Given the description of an element on the screen output the (x, y) to click on. 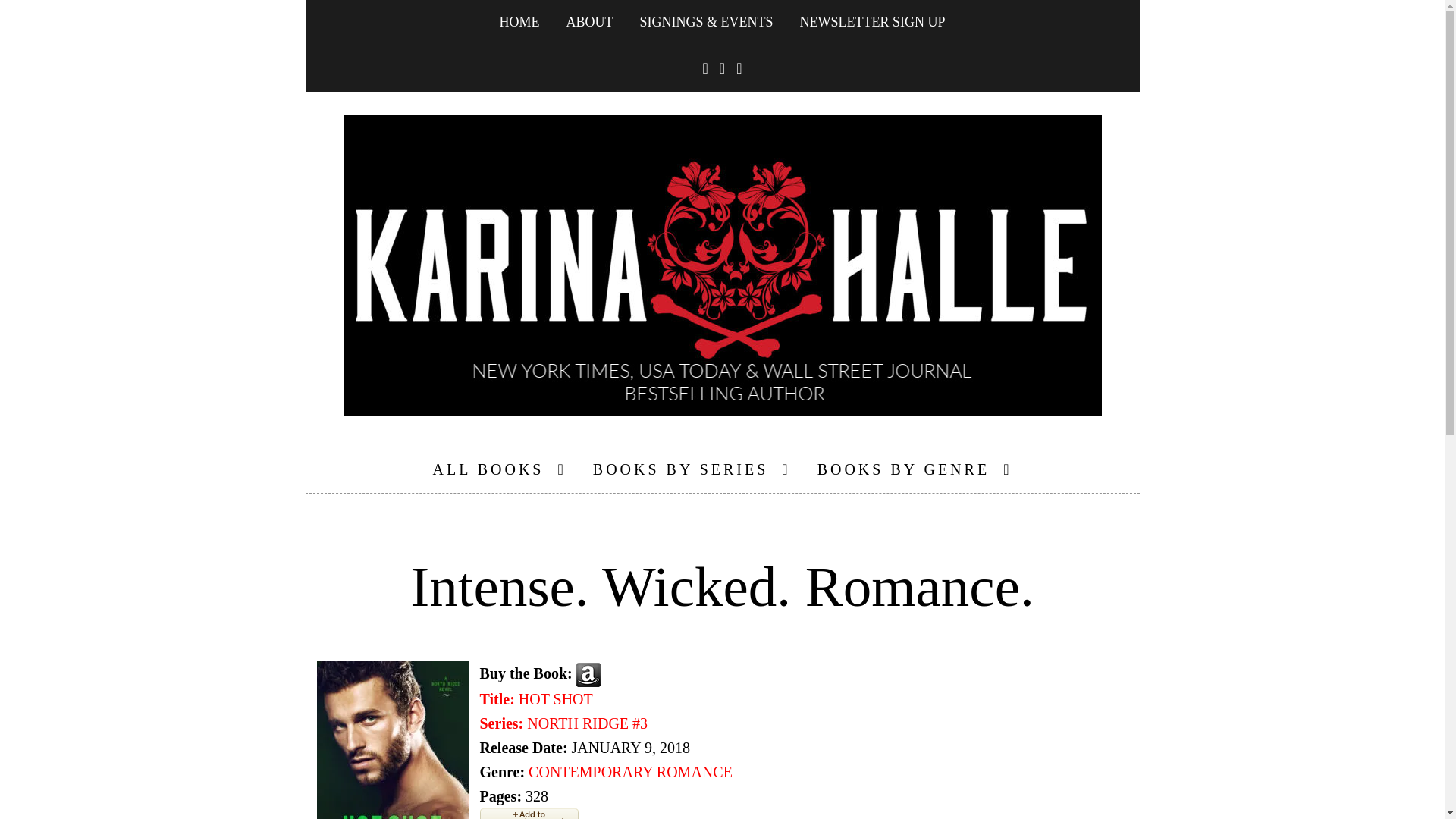
NEWSLETTER SIGN UP (872, 22)
CONTEMPORARY ROMANCE (630, 771)
BOOKS BY SERIES   (691, 469)
BOOKS BY GENRE   (914, 469)
ABOUT (539, 698)
ALL BOOKS   (589, 22)
HOME (500, 469)
